Given the description of an element on the screen output the (x, y) to click on. 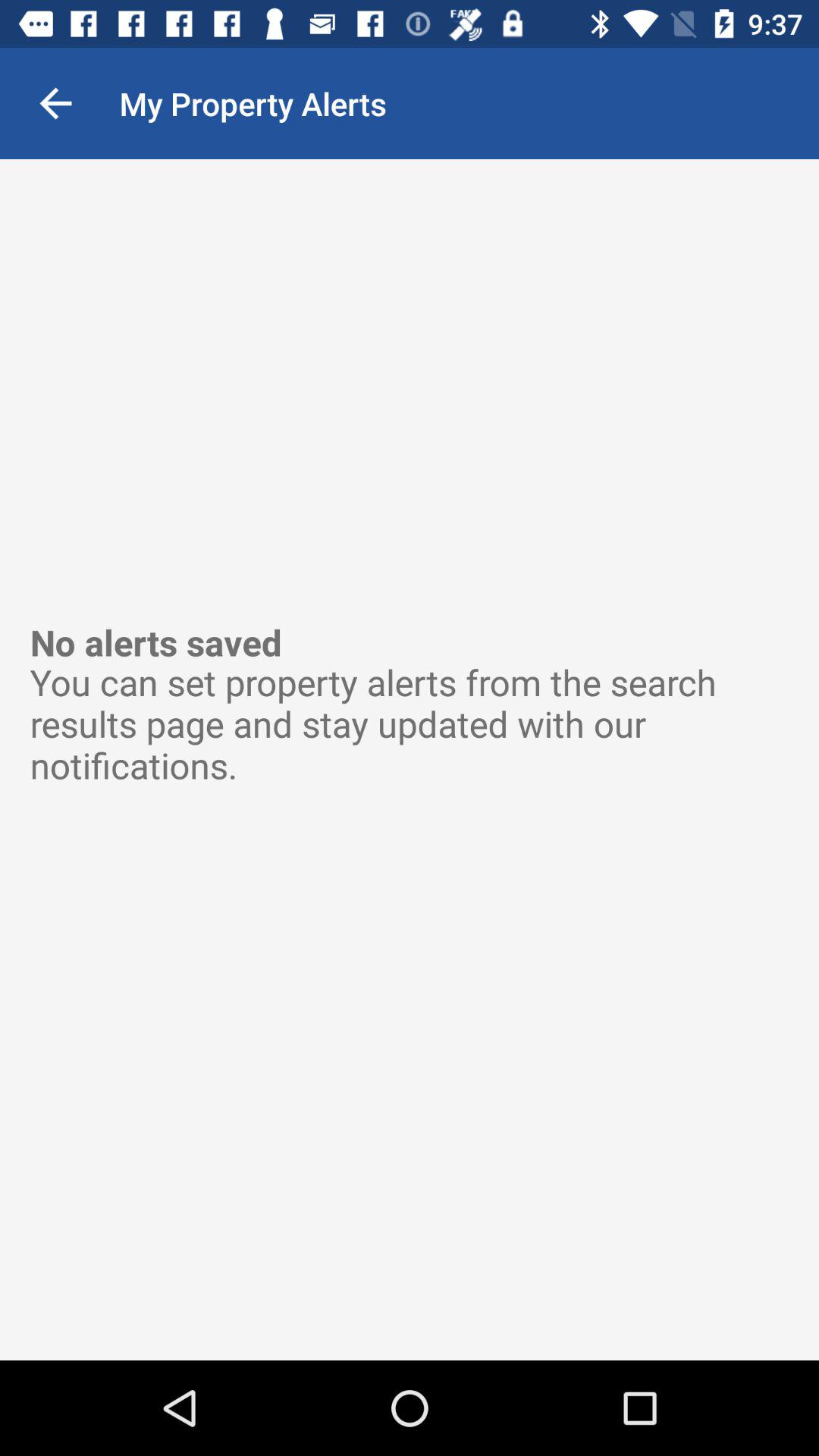
choose the app to the left of my property alerts app (55, 103)
